Given the description of an element on the screen output the (x, y) to click on. 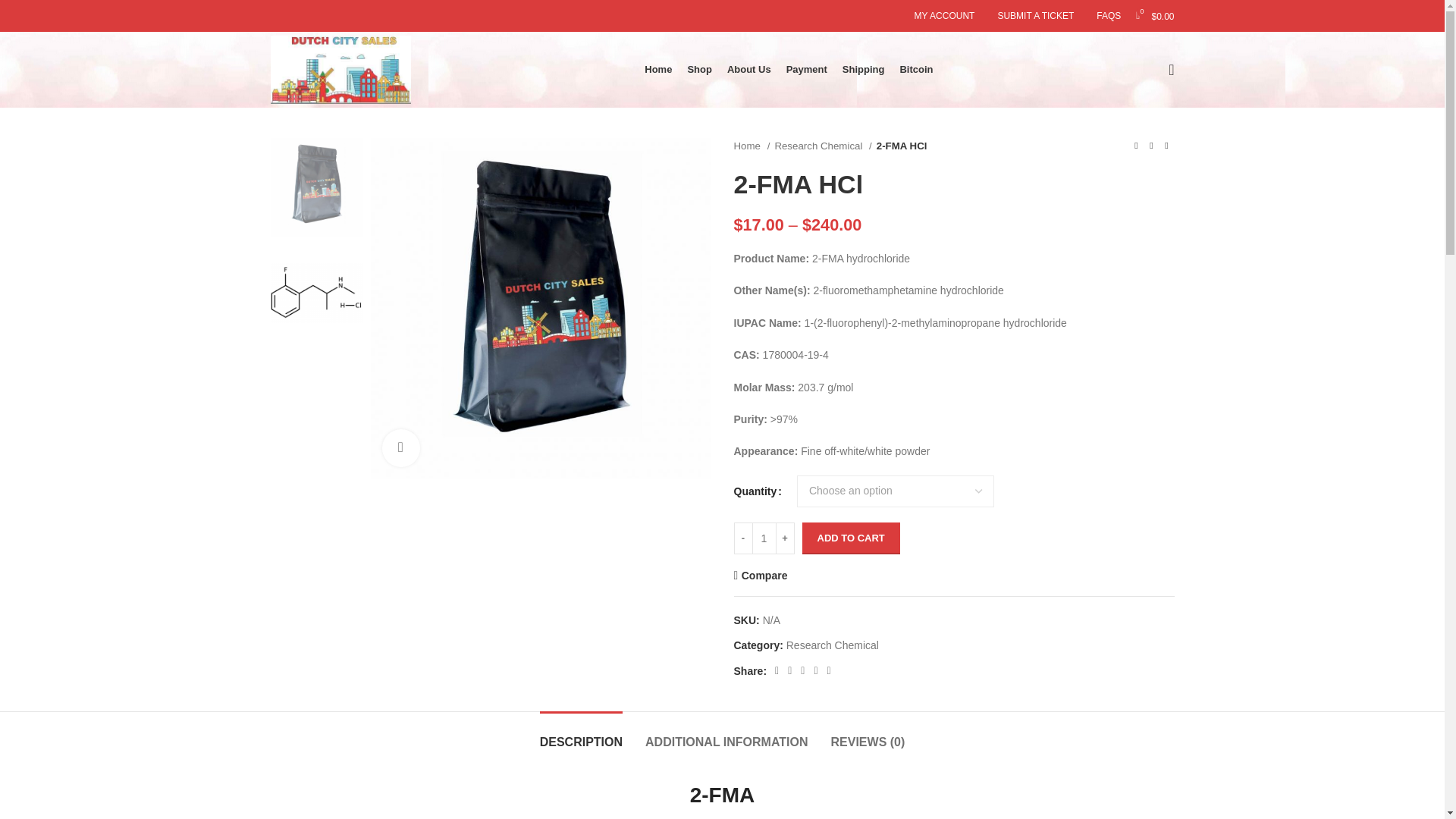
Home (658, 69)
Bitcoin (916, 69)
82738-10.jpg (539, 308)
Payment (806, 69)
Compare (760, 574)
Research Chemical (822, 145)
MY ACCOUNT (944, 15)
Home (751, 145)
ADD TO CART (850, 538)
Shipping (864, 69)
